Given the description of an element on the screen output the (x, y) to click on. 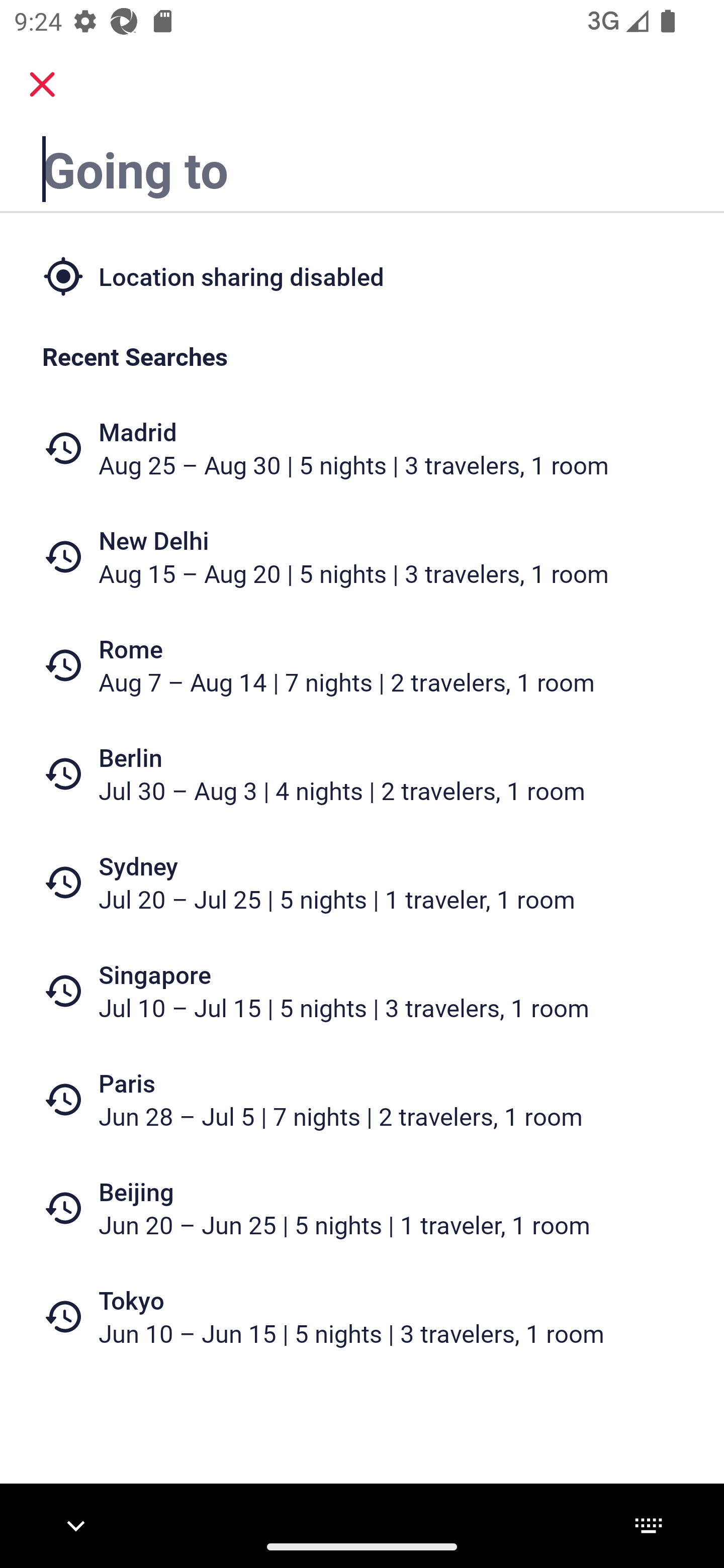
close. (42, 84)
Location sharing disabled (362, 275)
